Given the description of an element on the screen output the (x, y) to click on. 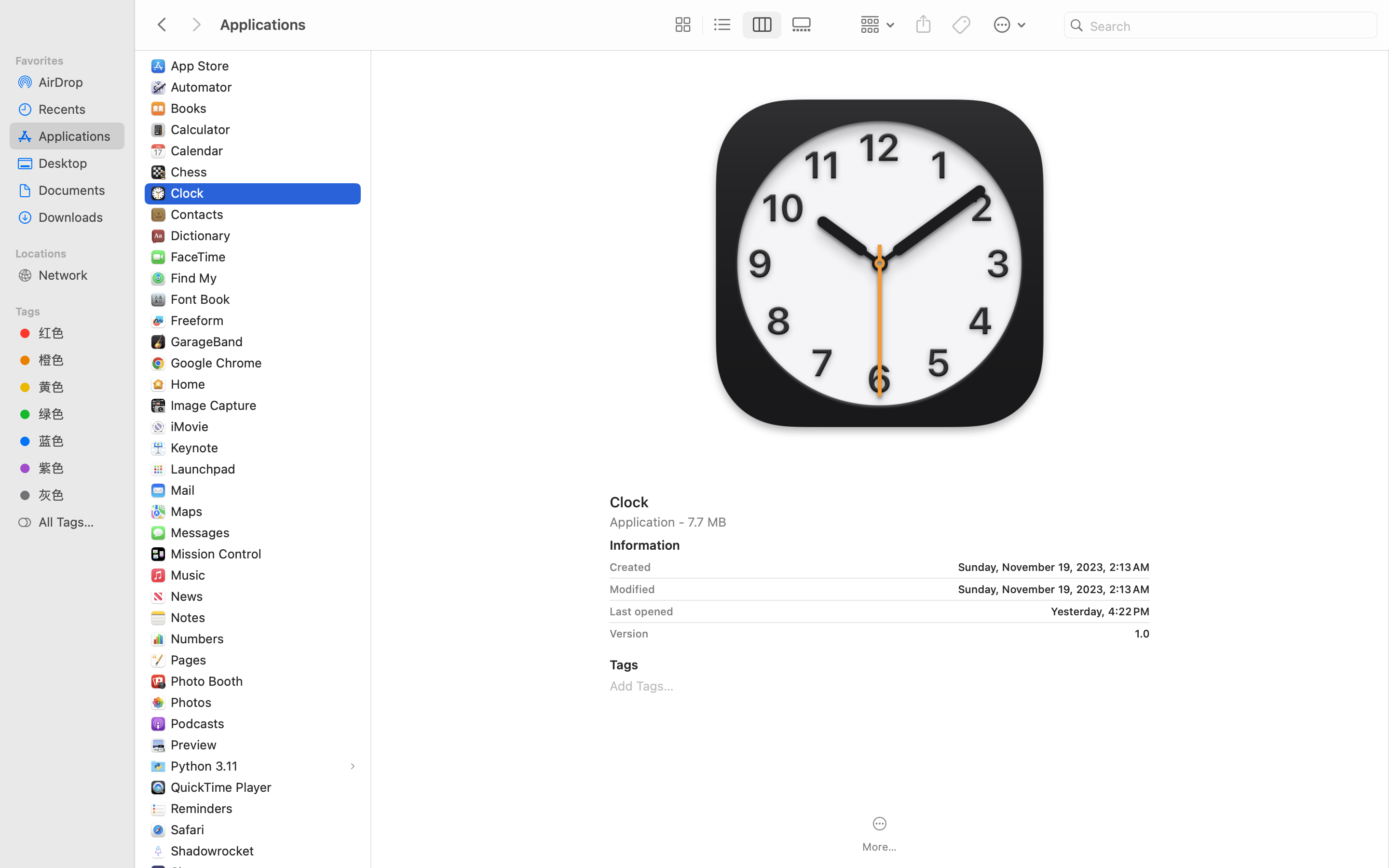
Maps Element type: AXTextField (188, 510)
Favorites Element type: AXStaticText (72, 59)
Numbers Element type: AXTextField (199, 638)
Documents Element type: AXStaticText (77, 189)
Modified Element type: AXStaticText (631, 589)
